Given the description of an element on the screen output the (x, y) to click on. 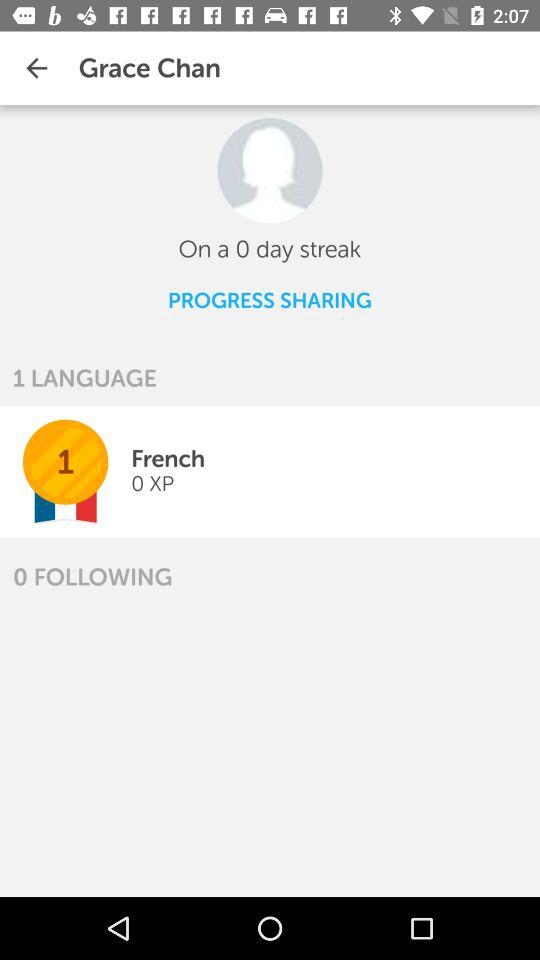
tap the progress sharing (269, 300)
